Given the description of an element on the screen output the (x, y) to click on. 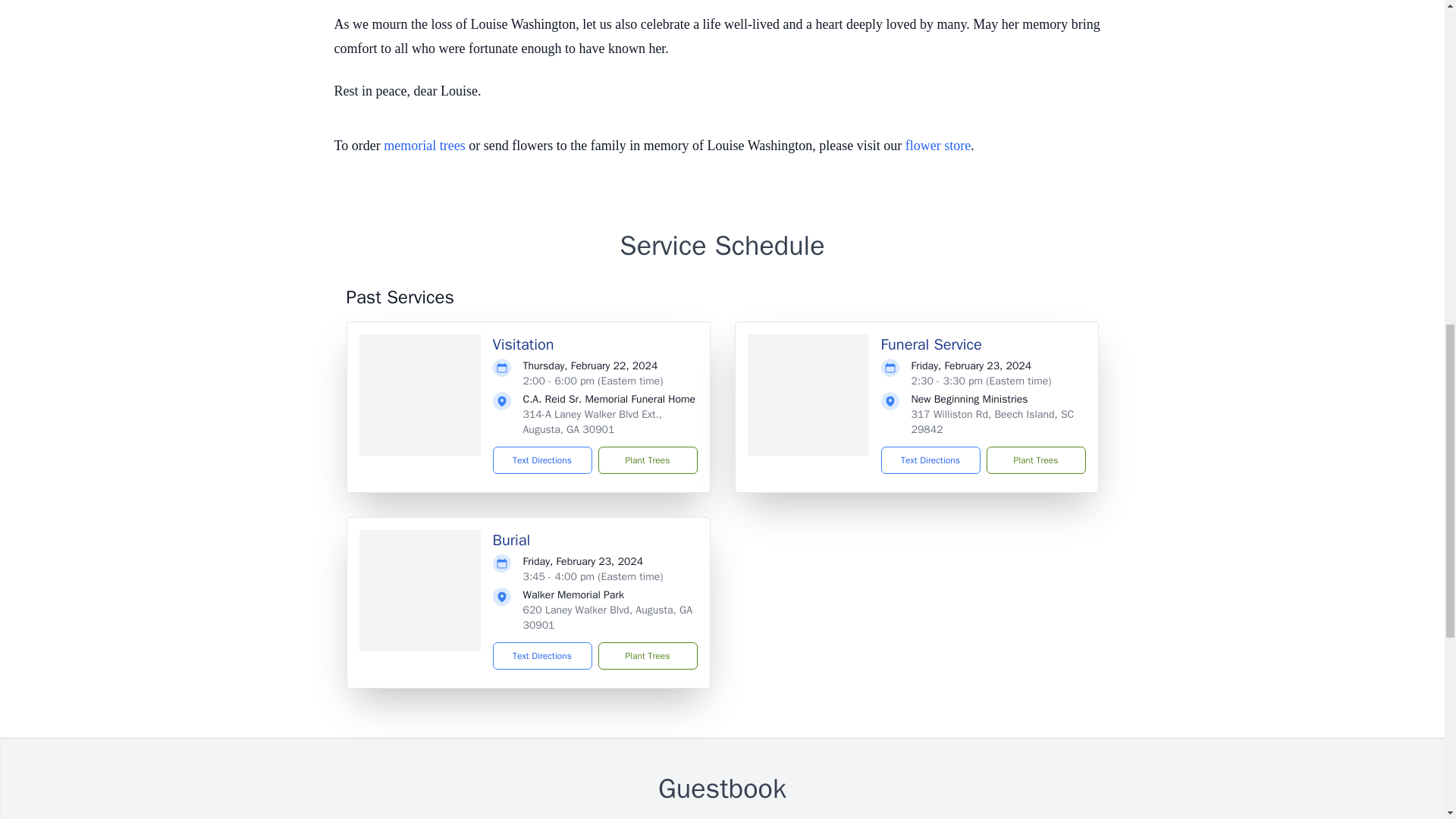
Text Directions (542, 460)
Plant Trees (646, 460)
Text Directions (542, 655)
Plant Trees (1034, 460)
620 Laney Walker Blvd, Augusta, GA 30901 (607, 617)
317 Williston Rd, Beech Island, SC 29842 (992, 421)
memorial trees (424, 145)
Text Directions (929, 460)
314-A Laney Walker Blvd Ext., Augusta, GA 30901 (592, 421)
flower store (938, 145)
Plant Trees (646, 655)
